Given the description of an element on the screen output the (x, y) to click on. 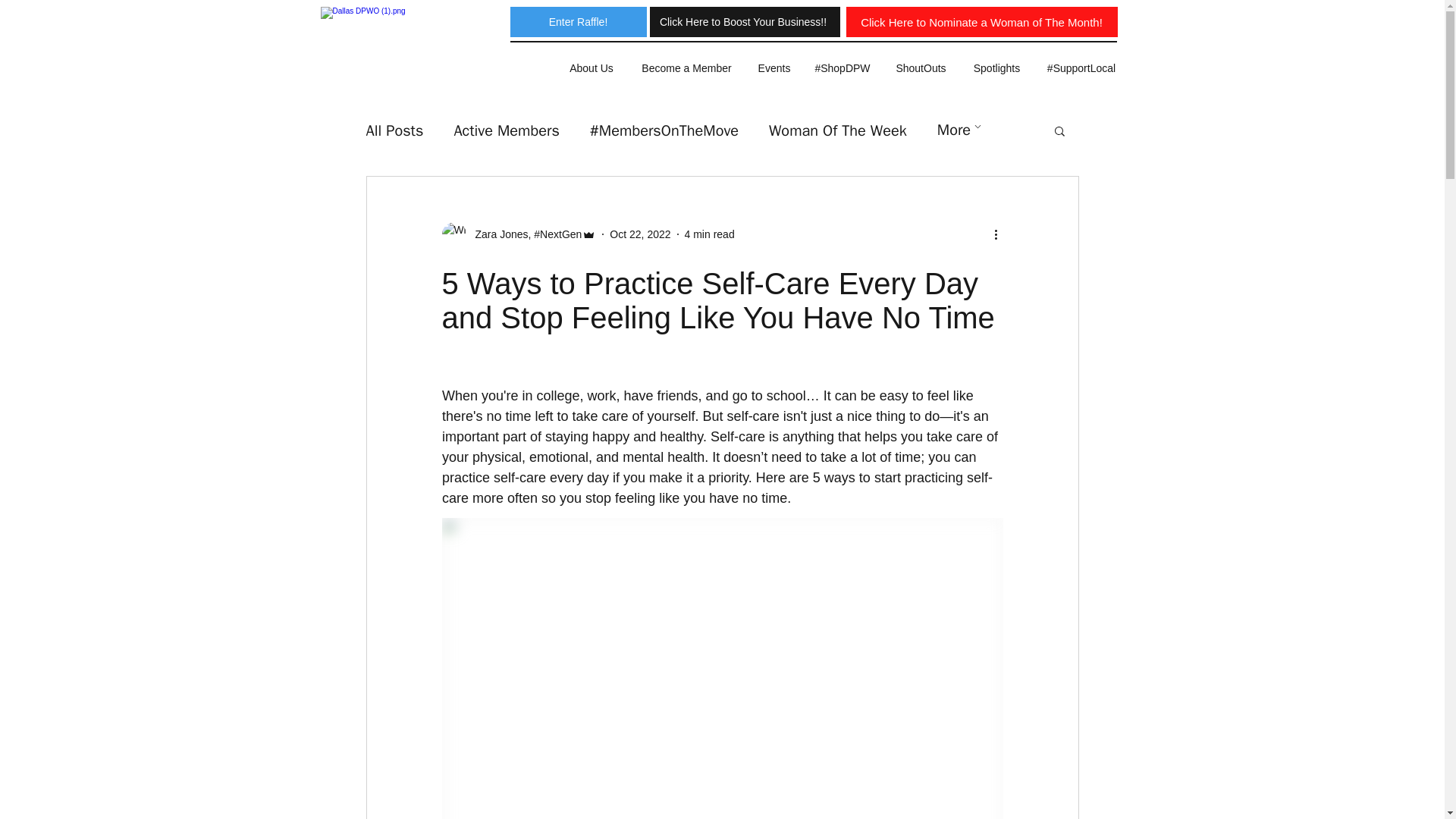
Oct 22, 2022 (639, 233)
Woman Of The Week (837, 129)
Click Here to Nominate a Woman of The Month! (981, 21)
ShoutOuts (920, 68)
Spotlights (996, 68)
Events (774, 68)
4 min read (709, 233)
All Posts (394, 129)
Enter Raffle! (577, 21)
Active Members (505, 129)
About Us (590, 68)
Become a Member (686, 68)
Click Here to Boost Your Business!! (746, 21)
Click Here to Boost Your Business!! (742, 21)
